Given the description of an element on the screen output the (x, y) to click on. 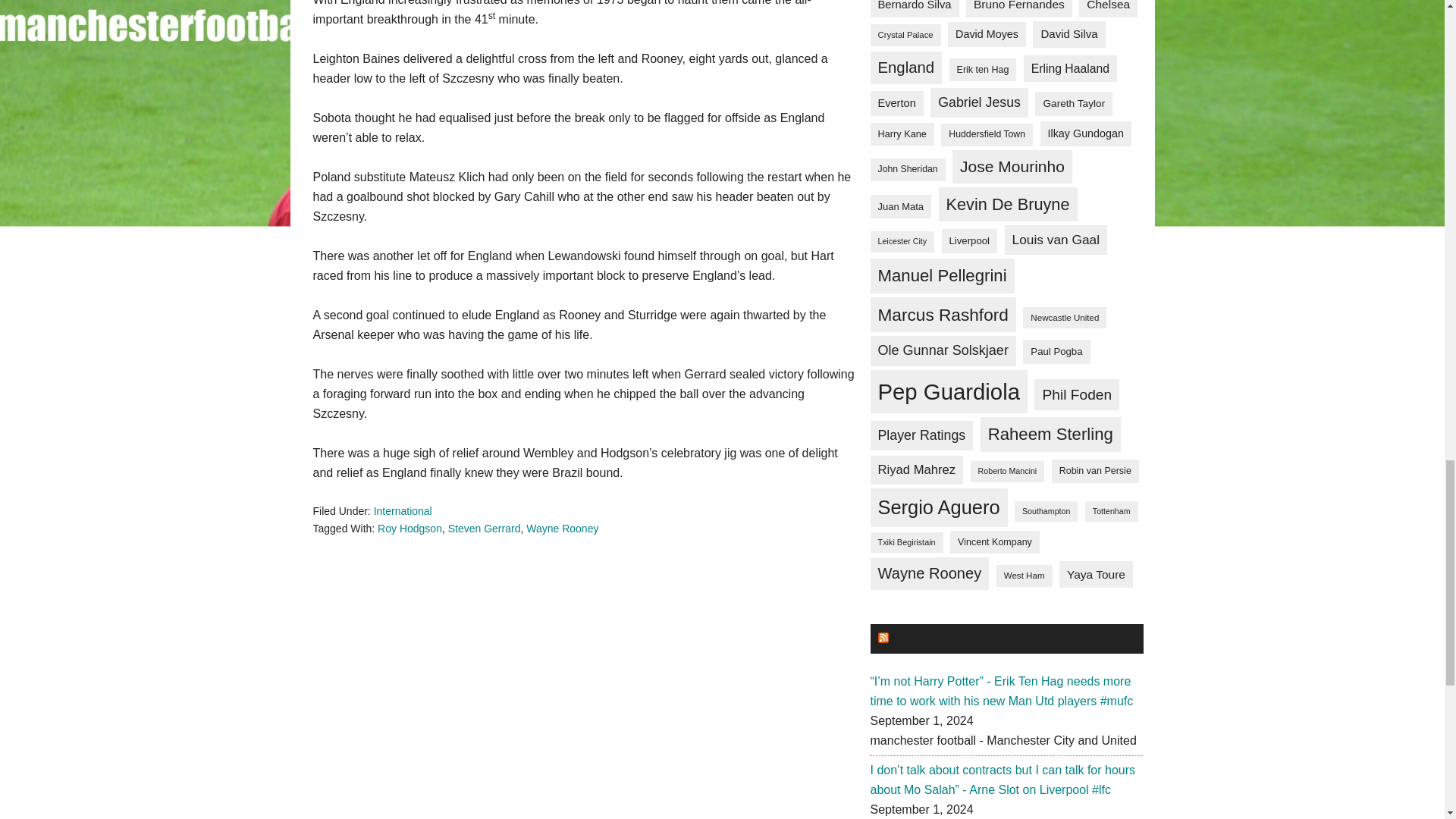
Wayne Rooney (561, 527)
Roy Hodgson (409, 527)
International (403, 510)
Steven Gerrard (484, 527)
